Given the description of an element on the screen output the (x, y) to click on. 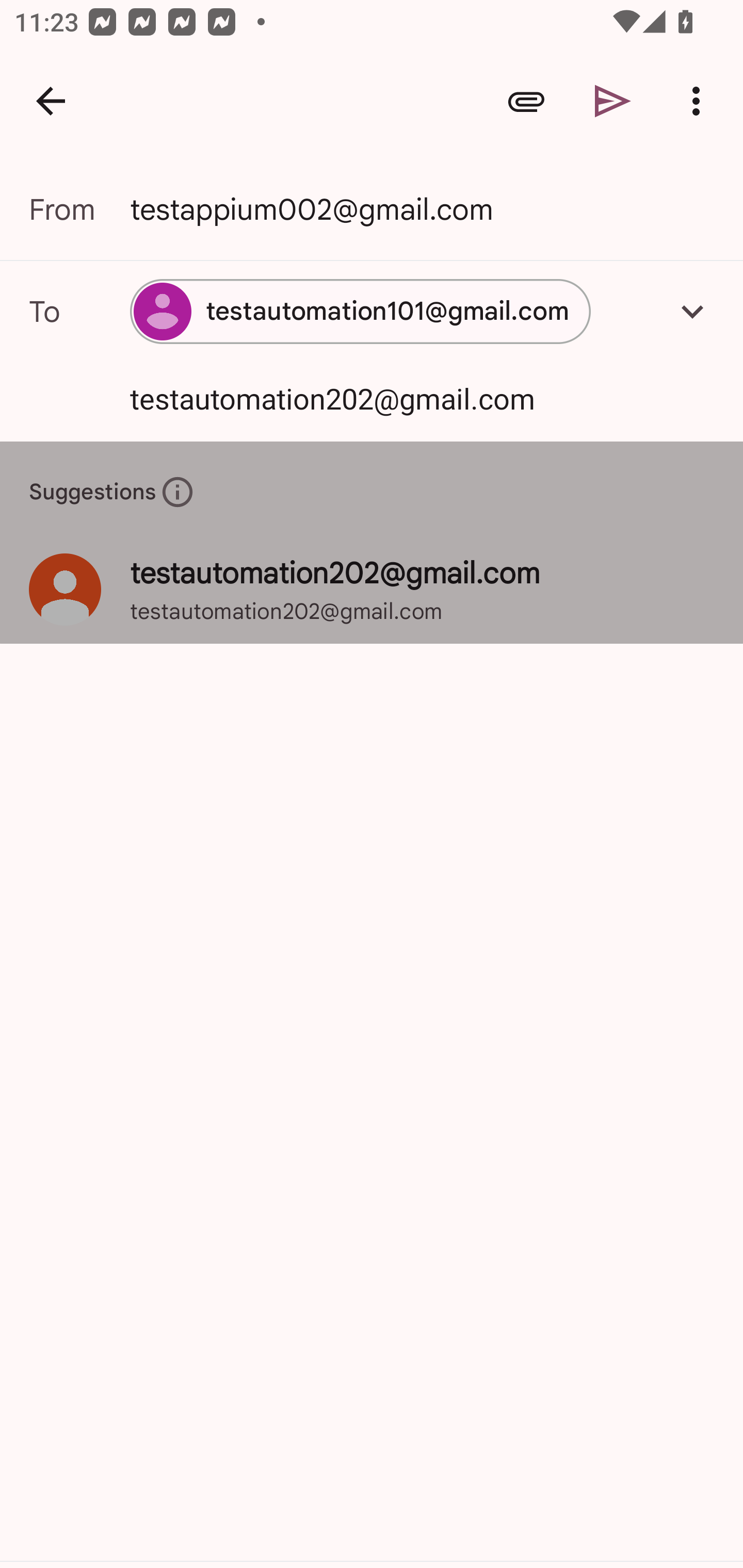
Navigate up (50, 101)
Attach file (525, 101)
Send (612, 101)
More options (699, 101)
From (79, 209)
Add Cc/Bcc (692, 311)
testautomation202@gmail.com (393, 398)
